Given the description of an element on the screen output the (x, y) to click on. 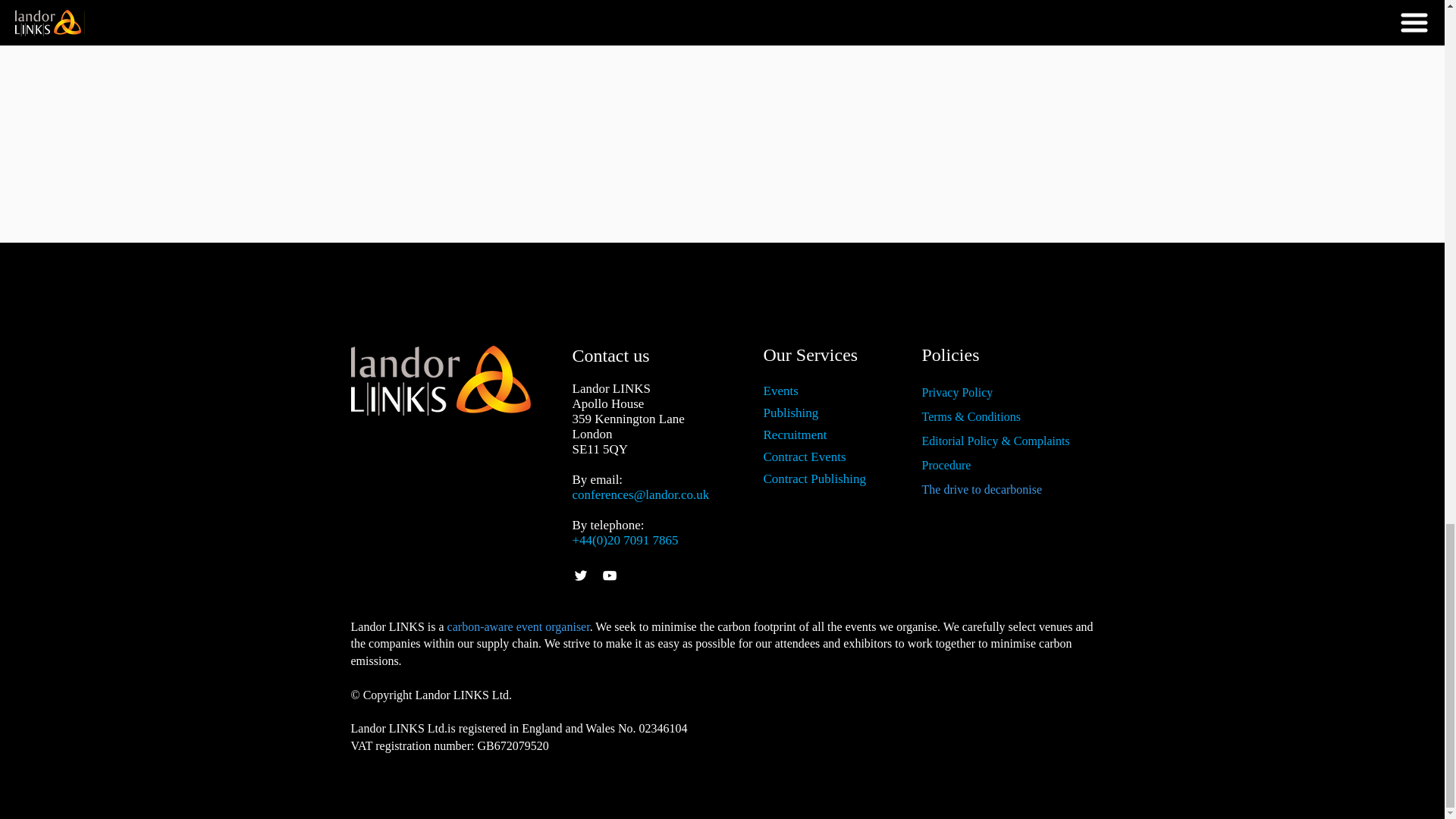
Privacy Policy (956, 391)
Contract Events (803, 456)
Landor LINKS: We connect. (445, 380)
Publishing (790, 413)
Contract Publishing (814, 479)
Recruitment (794, 435)
carbon-aware event organiser (517, 626)
The drive to decarbonise (981, 489)
Event (777, 391)
